Given the description of an element on the screen output the (x, y) to click on. 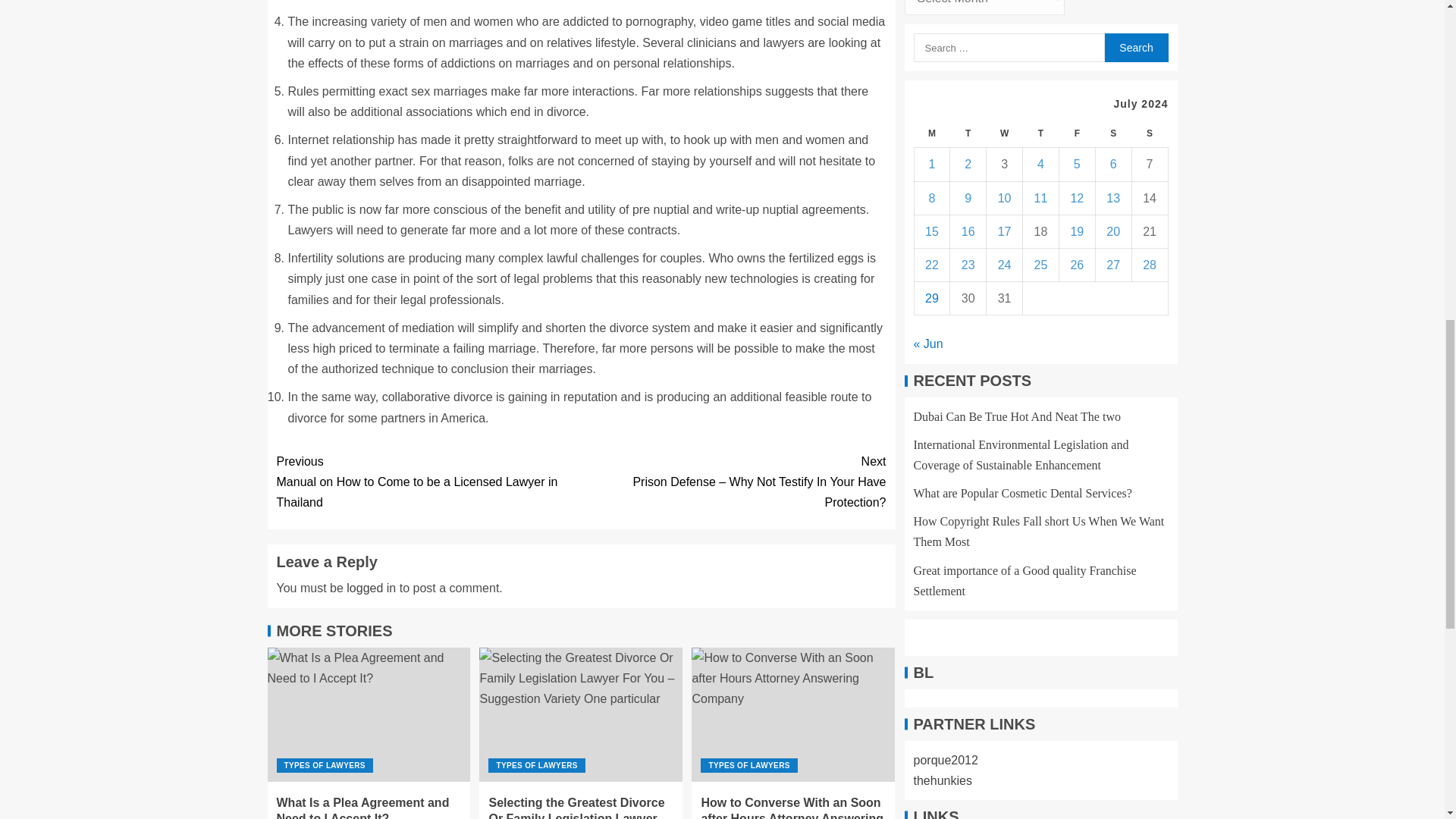
TYPES OF LAWYERS (536, 765)
logged in (371, 587)
What Is a Plea Agreement and Need to I Accept It? (362, 807)
TYPES OF LAWYERS (324, 765)
TYPES OF LAWYERS (748, 765)
What Is a Plea Agreement and Need to I Accept It? (368, 714)
